Given the description of an element on the screen output the (x, y) to click on. 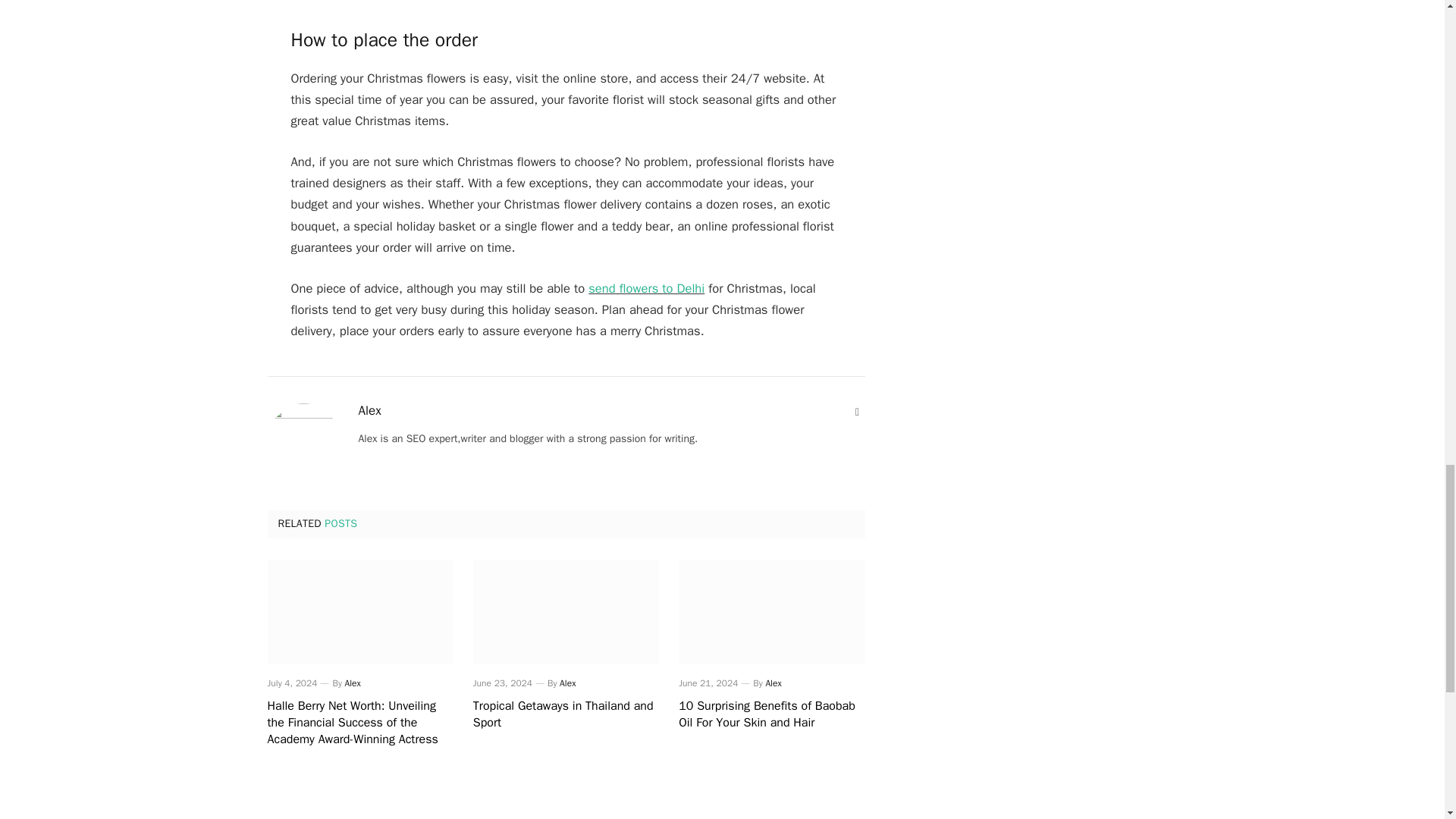
Website (856, 412)
10 Surprising Benefits of Baobab Oil For Your Skin and Hair (771, 715)
Website (856, 412)
Alex (567, 683)
Alex (772, 683)
Alex (353, 683)
Posts by Alex (567, 683)
Posts by Alex (353, 683)
Tropical Getaways in Thailand and Sport (566, 611)
Tropical Getaways in Thailand and Sport (566, 715)
Posts by Alex (369, 410)
send flowers to Delhi (646, 288)
Alex (369, 410)
